Given the description of an element on the screen output the (x, y) to click on. 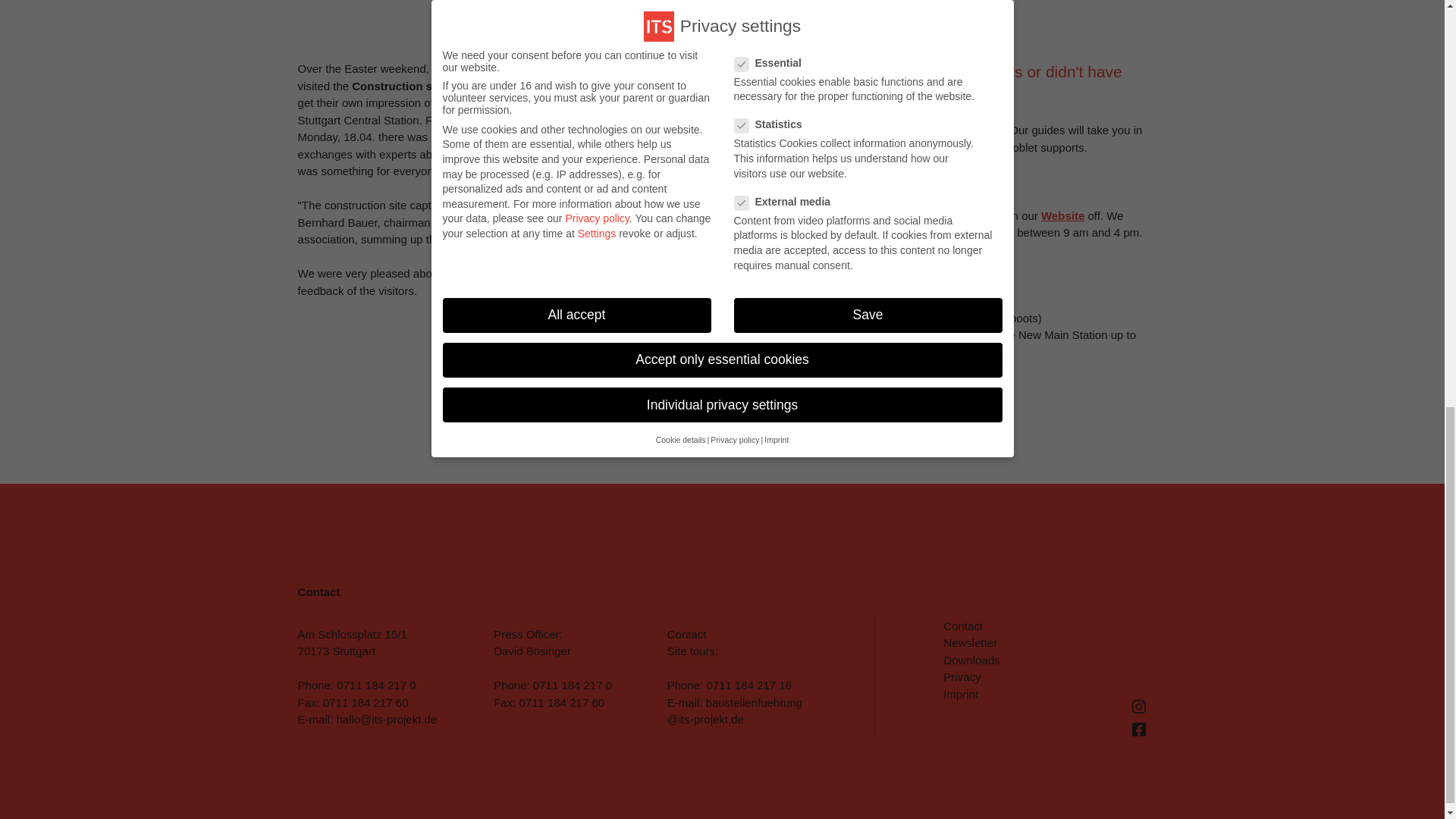
Contact (962, 625)
Newsletter (970, 642)
Website (1062, 215)
Privacy (961, 676)
Imprint (960, 694)
Downloads (970, 659)
